Given the description of an element on the screen output the (x, y) to click on. 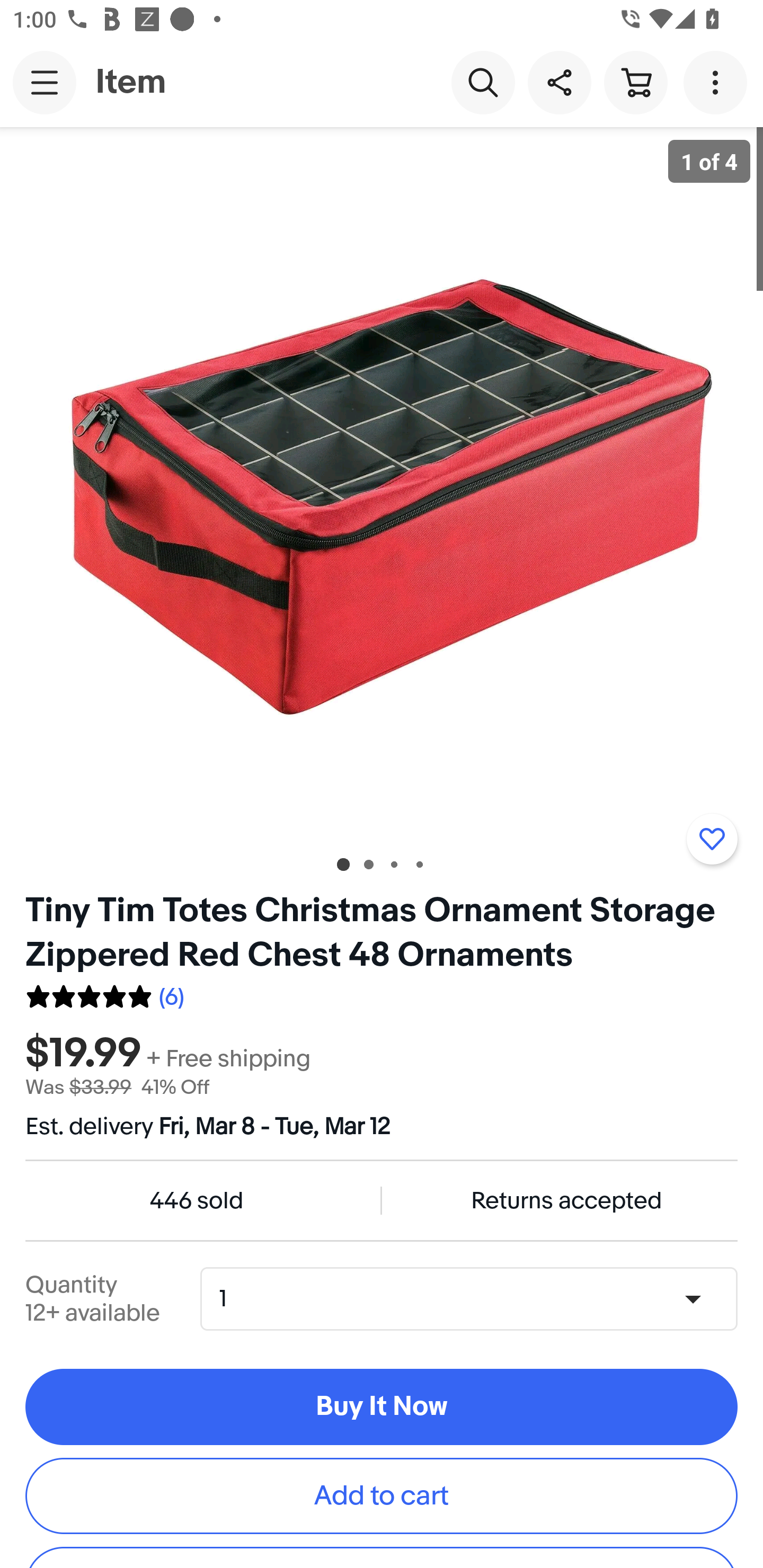
Main navigation, open (44, 82)
Search (482, 81)
Share this item (559, 81)
Cart button shopping cart (635, 81)
More options (718, 81)
Item image 1 of 4 (381, 482)
Add to watchlist (711, 838)
6 reviews. Average rating 5.0 out of five 10.0 (6) (104, 993)
Quantity,1,12+ available 1 (474, 1298)
Buy It Now (381, 1406)
Add to cart (381, 1495)
